Given the description of an element on the screen output the (x, y) to click on. 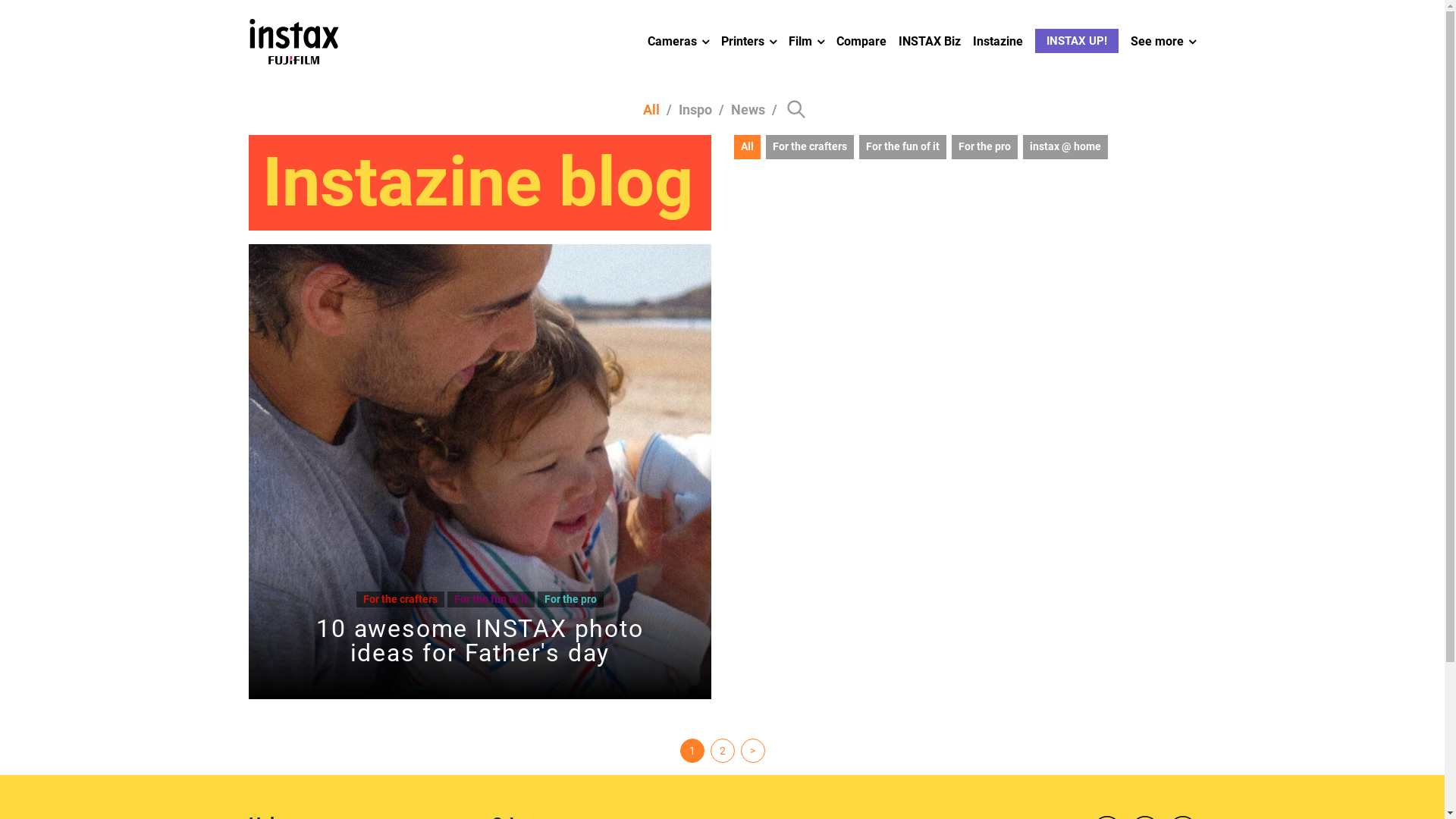
Film Element type: text (806, 41)
All Element type: text (747, 146)
Inspo Element type: text (695, 109)
For the pro Element type: text (984, 146)
Instazine Element type: text (997, 41)
2 Element type: text (721, 750)
INSTAX Biz Element type: text (929, 41)
Cameras Element type: text (678, 41)
> Element type: text (752, 750)
All Element type: text (651, 109)
INSTAX UP! Element type: text (1076, 40)
For the crafters Element type: text (809, 146)
News Element type: text (748, 109)
Printers Element type: text (748, 41)
Compare Element type: text (861, 41)
instax @ home Element type: text (1064, 146)
For the fun of it Element type: text (902, 146)
See more Element type: text (1162, 41)
